Given the description of an element on the screen output the (x, y) to click on. 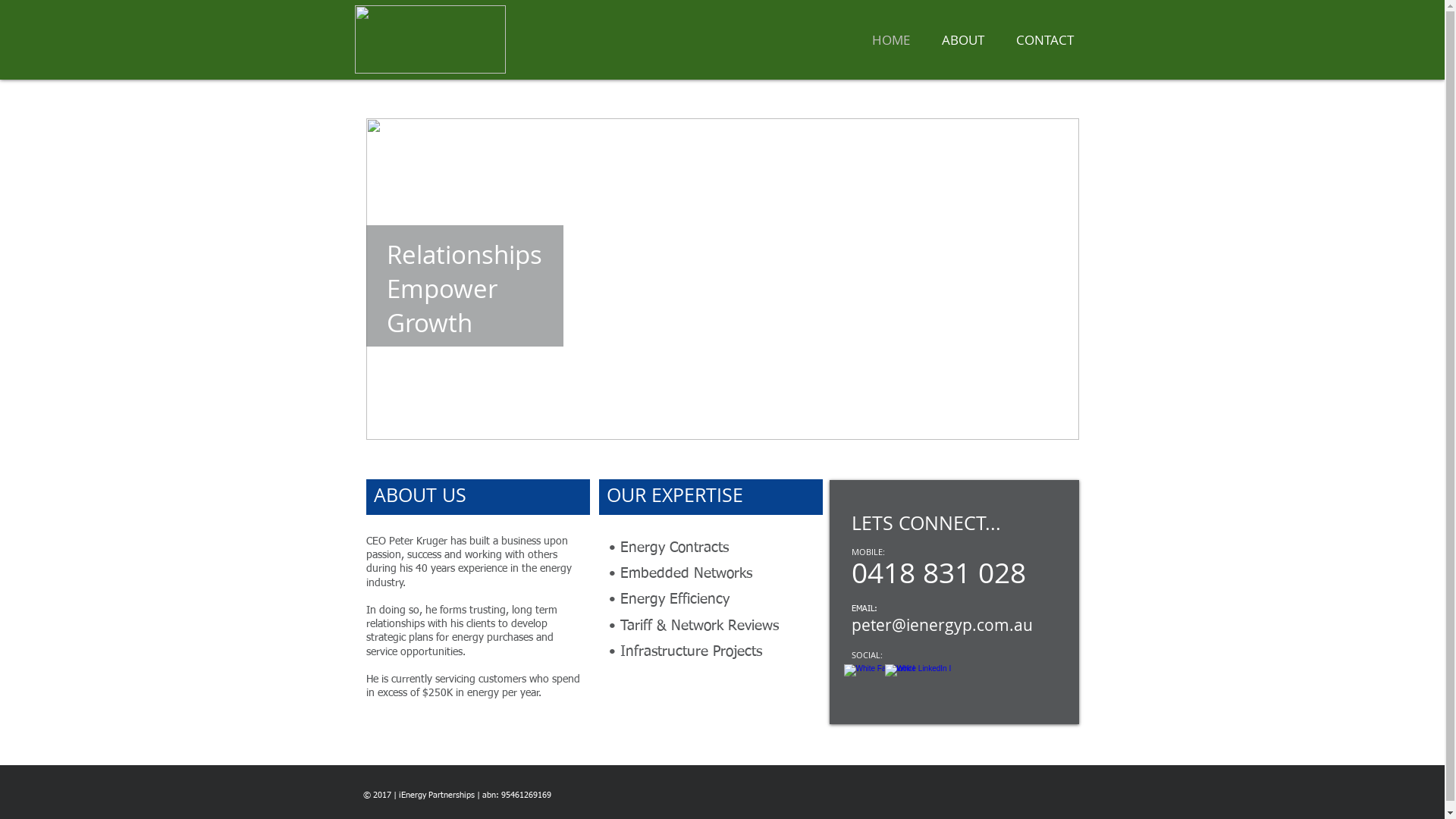
HOME Element type: text (890, 40)
peter@ienergyp.com.au Element type: text (941, 624)
ABOUT Element type: text (962, 40)
CONTACT Element type: text (1043, 40)
